Given the description of an element on the screen output the (x, y) to click on. 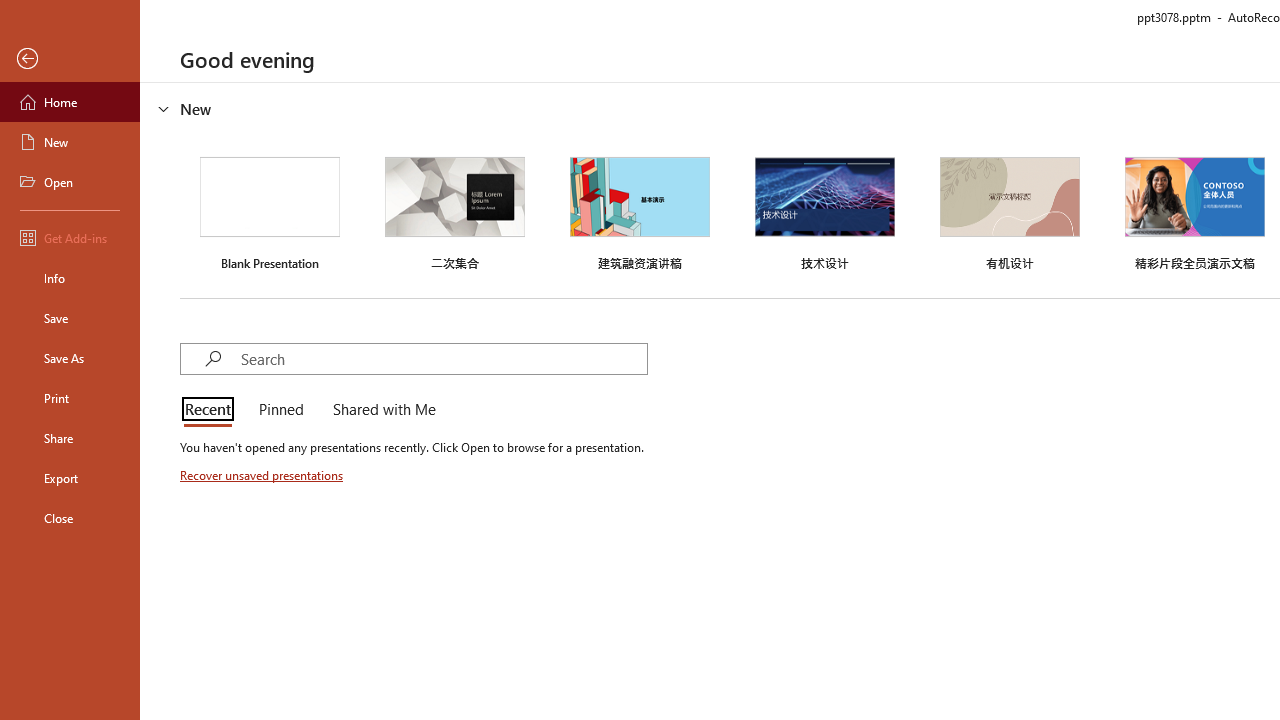
Info (69, 277)
Open (69, 182)
New (69, 141)
Get Add-ins (69, 237)
Export (69, 477)
Blank Presentation (269, 211)
Back (69, 59)
